Given the description of an element on the screen output the (x, y) to click on. 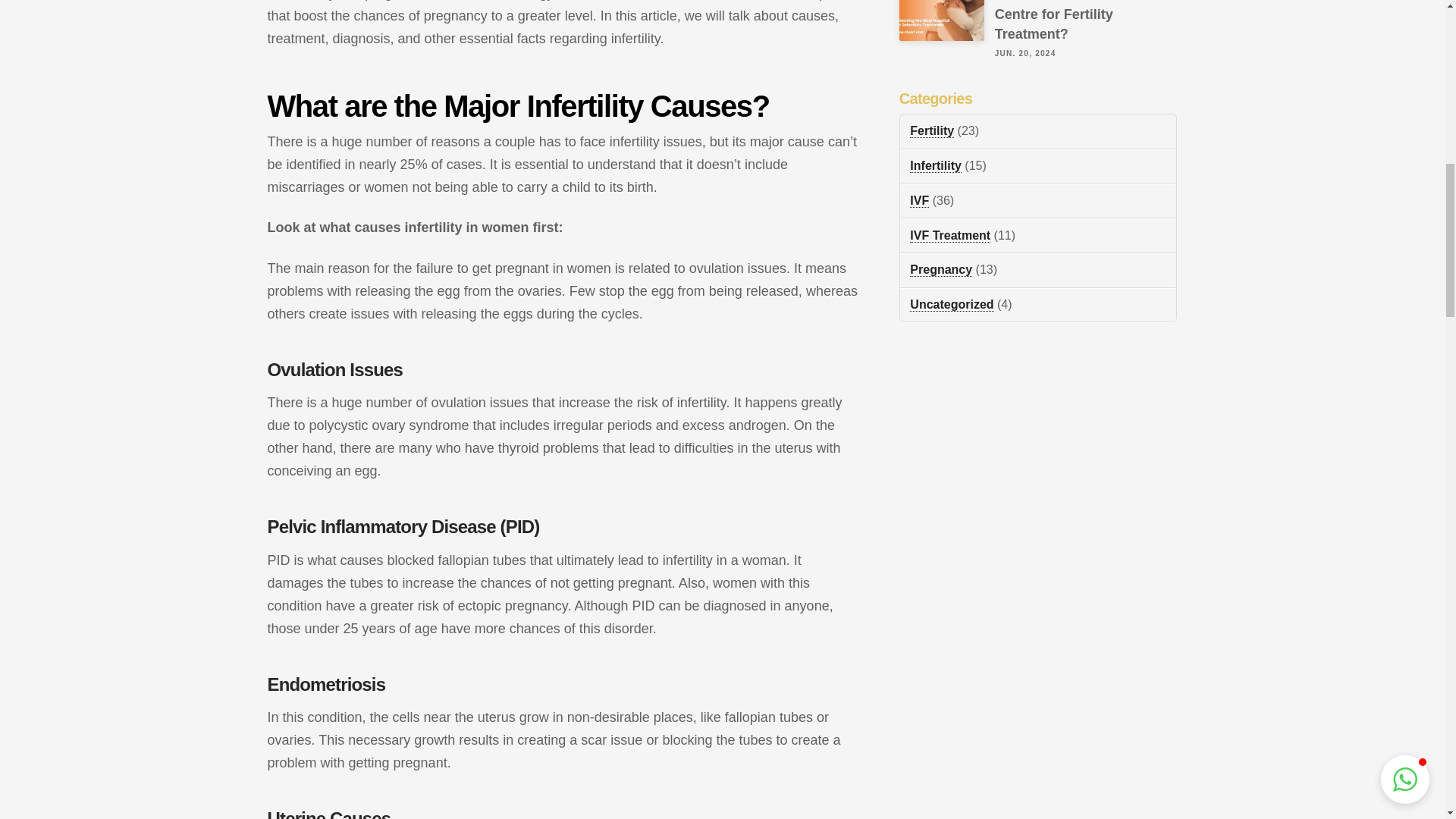
Fertility (931, 131)
IVF (919, 201)
Pregnancy (941, 269)
Uncategorized (951, 305)
IVF Treatment (950, 235)
Infertility (935, 165)
